Given the description of an element on the screen output the (x, y) to click on. 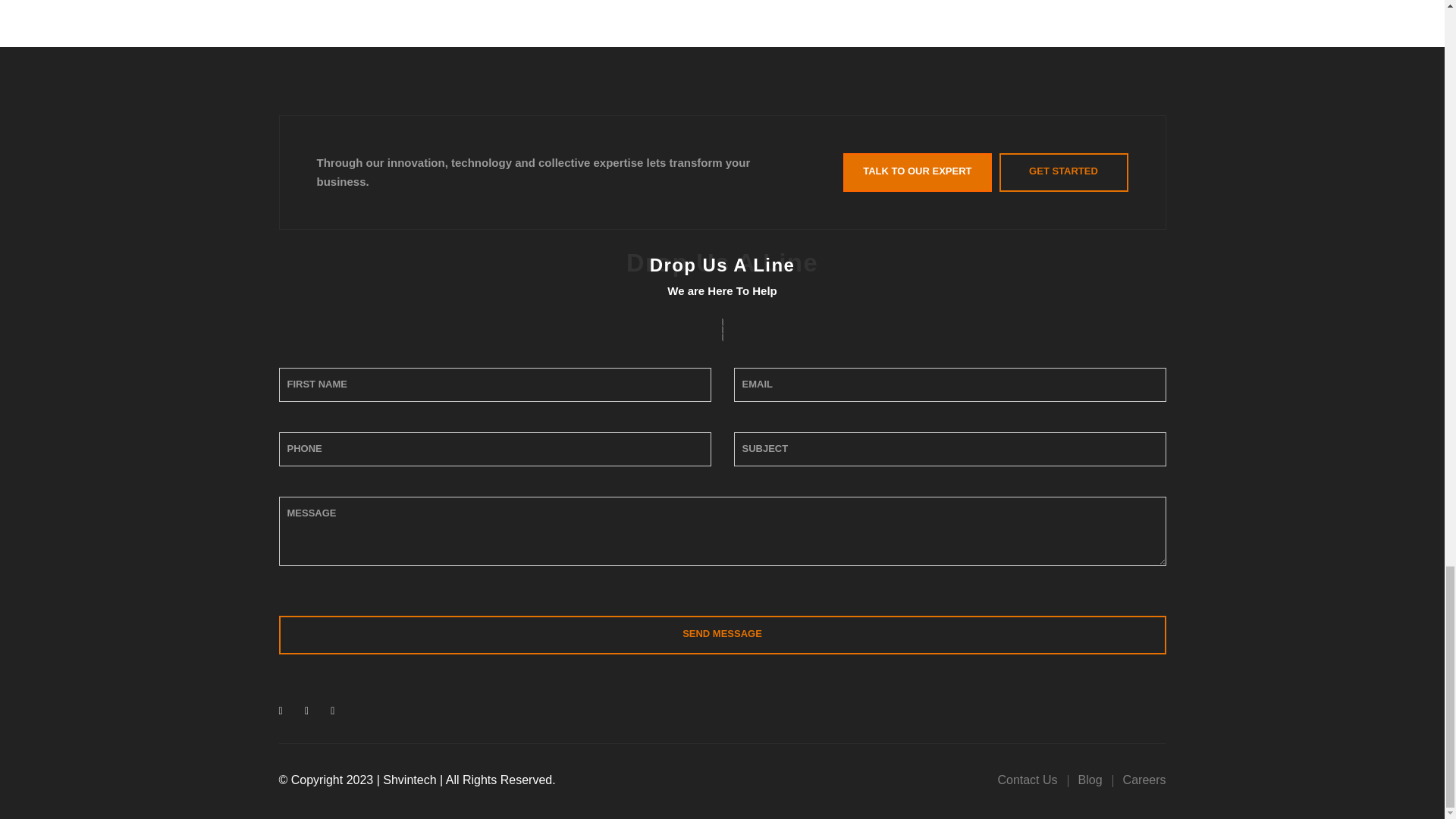
Send message (722, 634)
Careers (1144, 779)
TALK TO OUR EXPERT (917, 172)
Blog (1090, 779)
GET STARTED (1063, 172)
Send message (722, 634)
Contact Us (1027, 779)
